Given the description of an element on the screen output the (x, y) to click on. 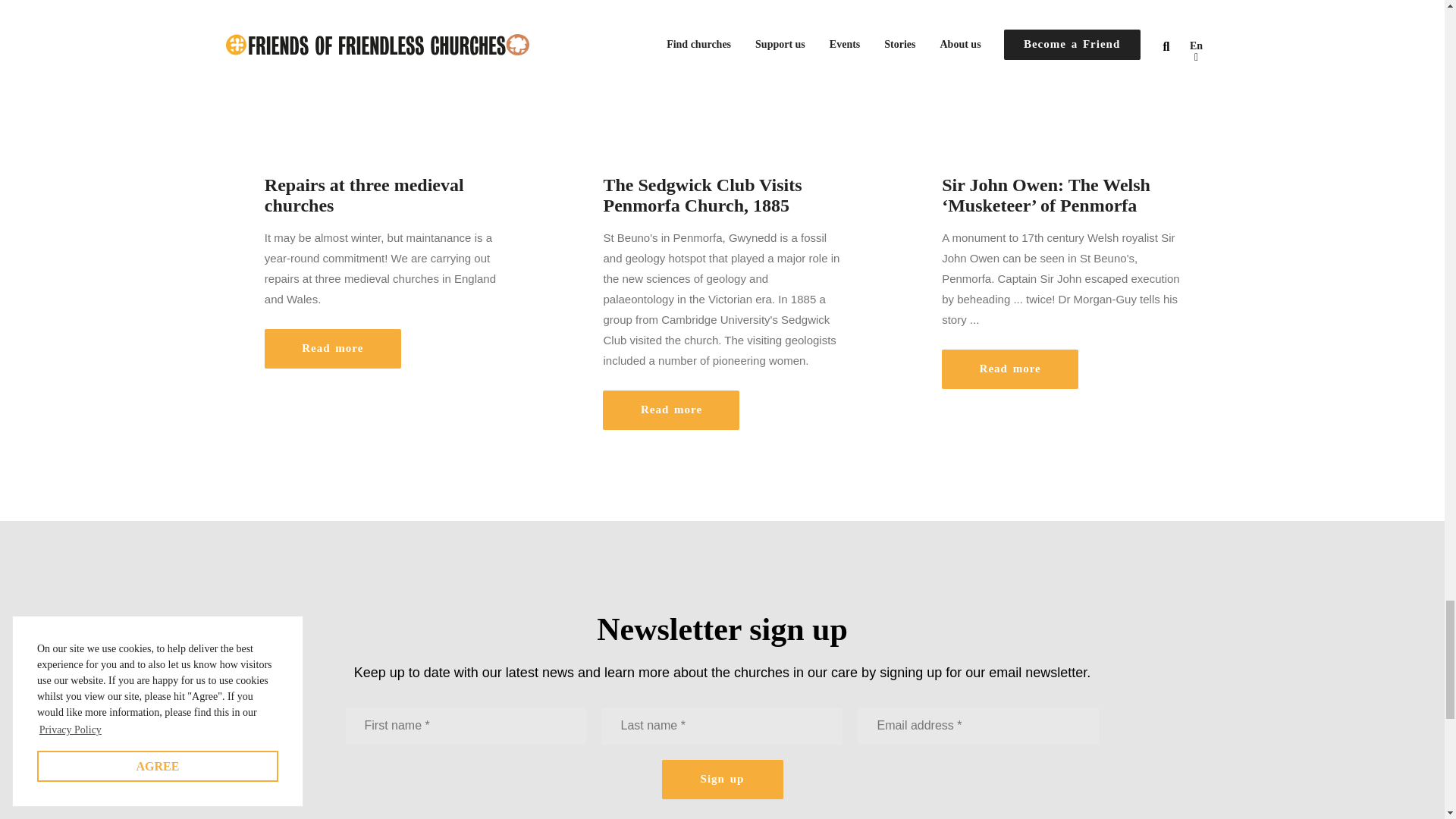
Sign up (722, 779)
